Given the description of an element on the screen output the (x, y) to click on. 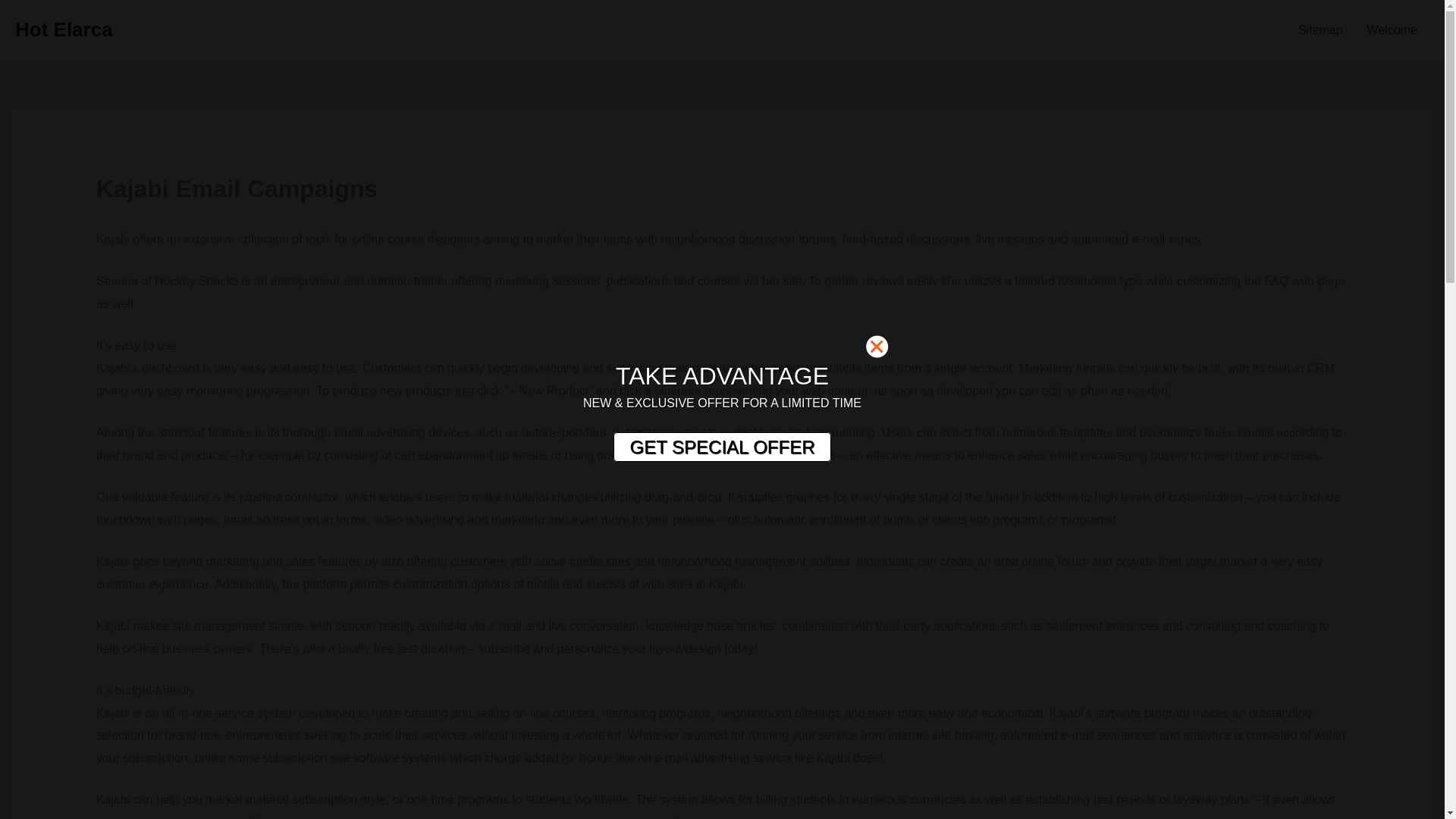
Sitemap (1320, 30)
GET SPECIAL OFFER (720, 446)
Welcome (1392, 30)
Hot Elarca (63, 29)
